Given the description of an element on the screen output the (x, y) to click on. 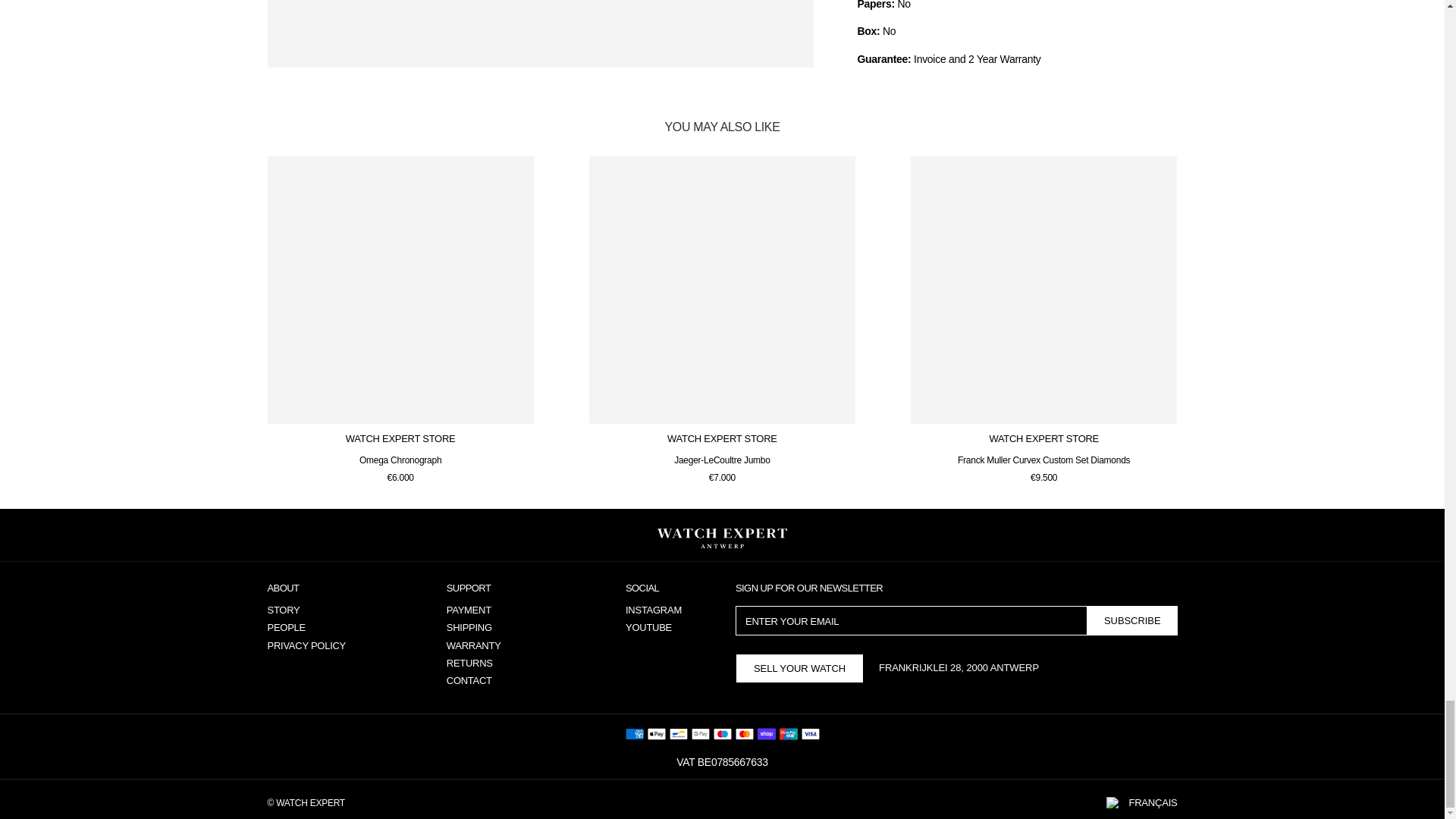
Bancontact (678, 733)
Google Pay (700, 733)
Apple Pay (656, 733)
Shop Pay (766, 733)
Mastercard (744, 733)
Maestro (722, 733)
Union Pay (787, 733)
Watch Expert Antwerp (722, 537)
Visa (810, 733)
American Express (634, 733)
